Given the description of an element on the screen output the (x, y) to click on. 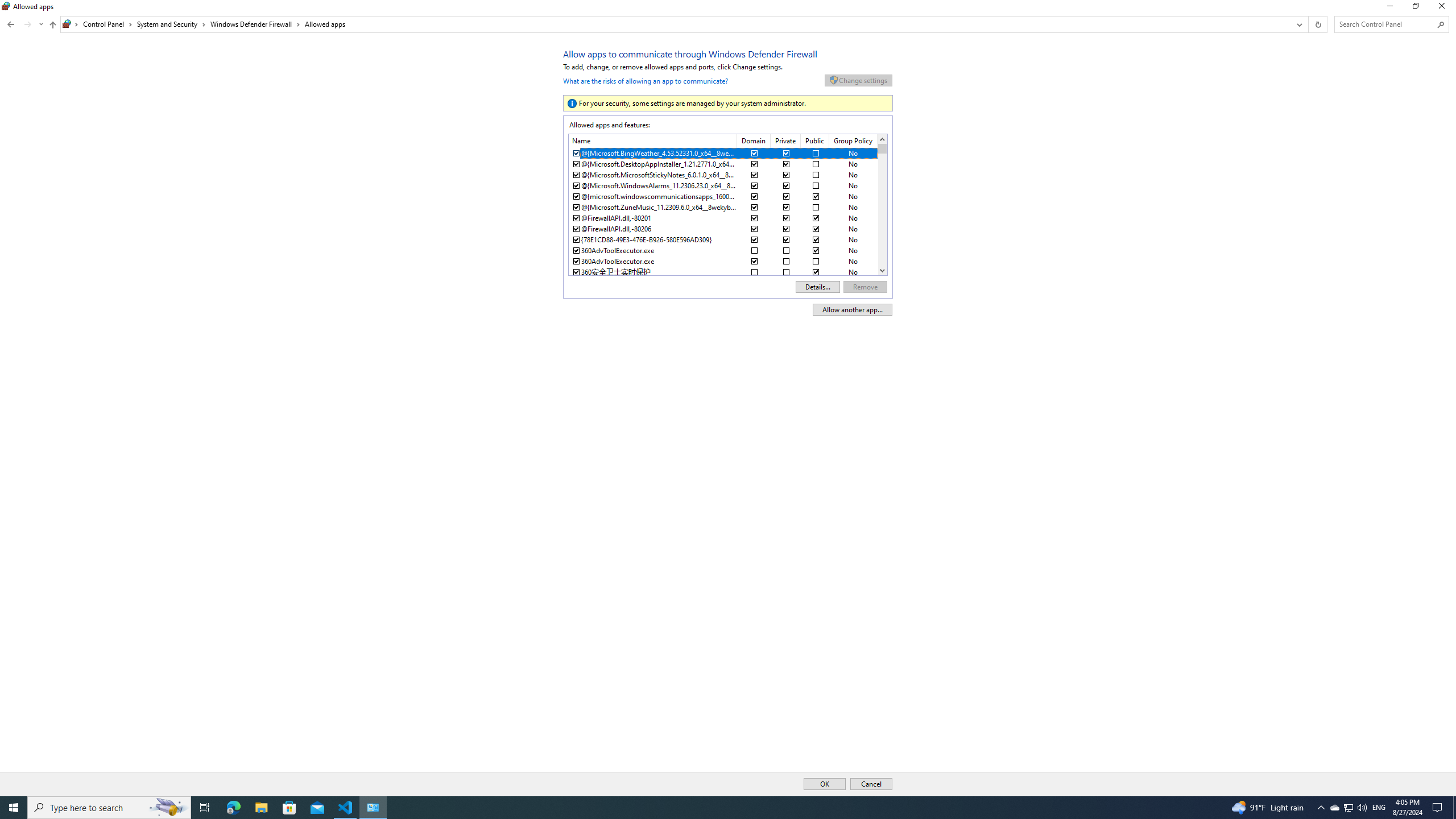
System (6, 6)
Search (1441, 24)
What are the risks of allowing an app to communicate? (645, 79)
Back to Windows Defender Firewall (Alt + Left Arrow) (10, 23)
Refresh "Allowed apps" (F5) (1316, 23)
Minimize (1388, 8)
Windows Defender Firewall (255, 23)
OK (824, 783)
Address band toolbar (1308, 23)
Start (13, 807)
User Promoted Notification Area (1347, 807)
Change settings (858, 79)
Allowed apps (324, 23)
Page down (881, 207)
Cancel (871, 783)
